Given the description of an element on the screen output the (x, y) to click on. 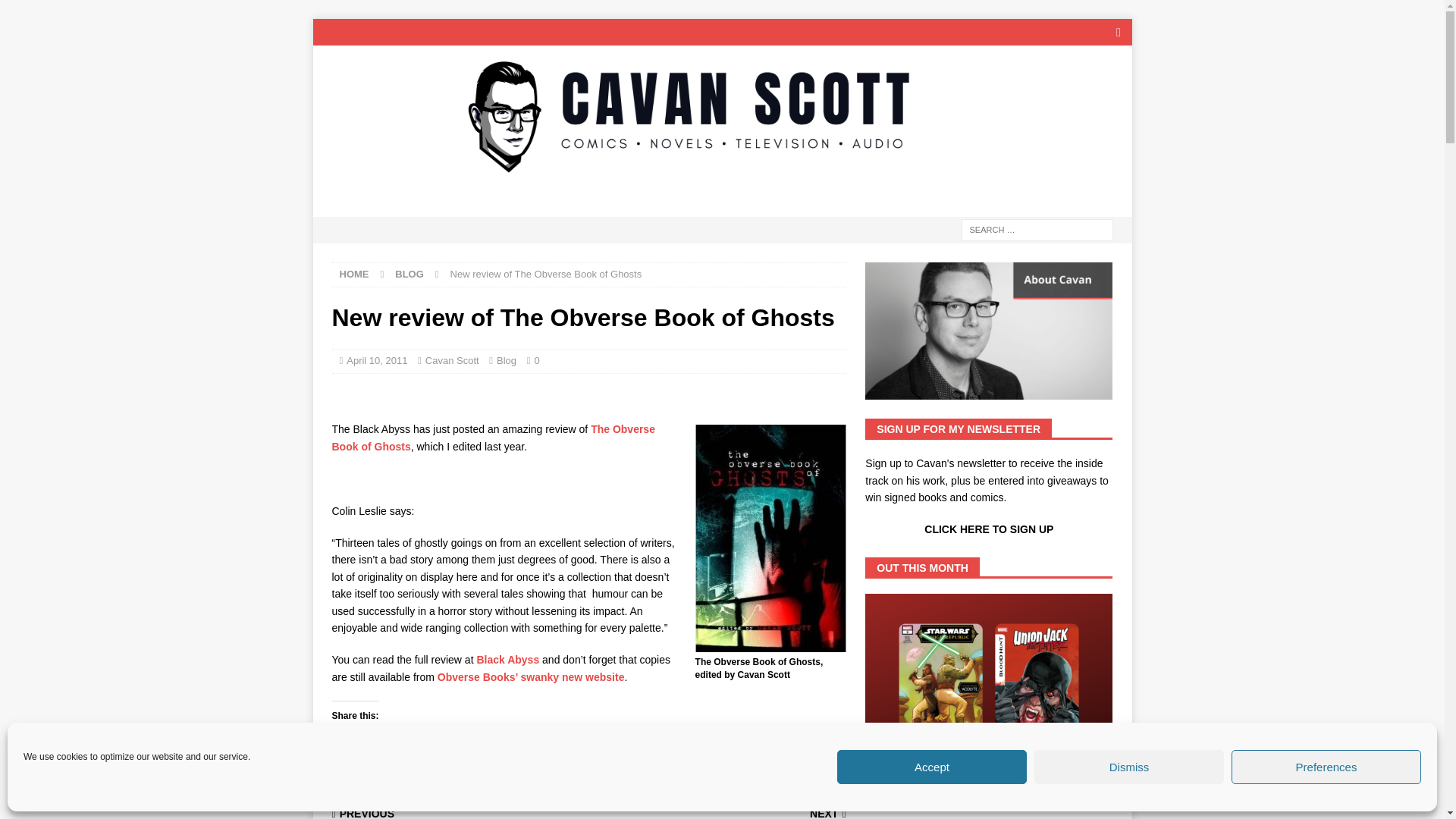
Black Abyss (507, 659)
Search (56, 11)
SHOP (761, 201)
HOME (354, 274)
ABOUT (346, 201)
Out this July (988, 686)
Blog (506, 360)
Cavan Scott (722, 175)
Dismiss (1128, 766)
AMA (515, 201)
The Obverse Book of Ghosts (493, 437)
Accept (931, 766)
Out this July (910, 796)
BLOG (408, 274)
